Given the description of an element on the screen output the (x, y) to click on. 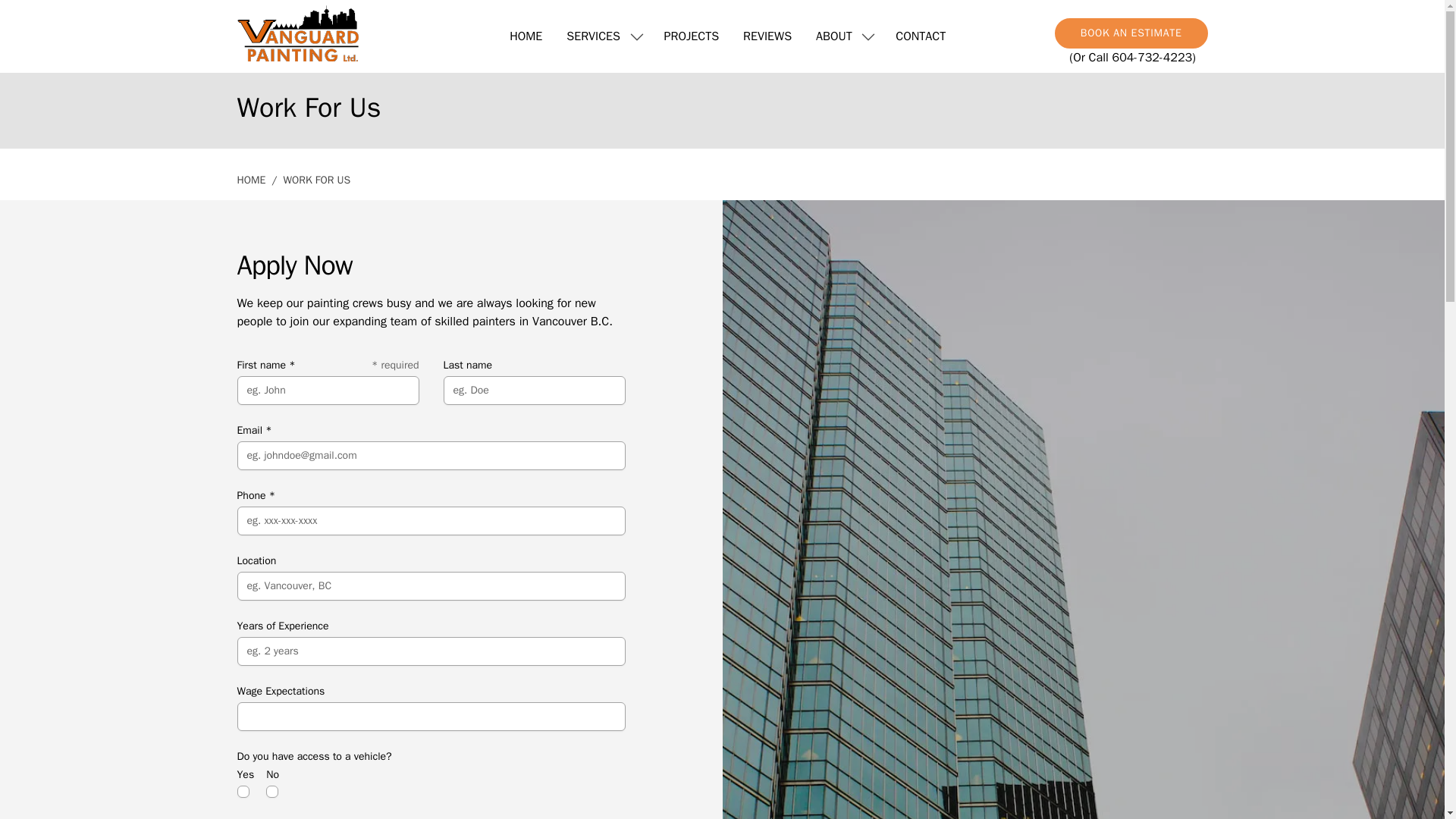
PROJECTS (692, 36)
CONTACT (920, 36)
REVIEWS (766, 36)
SERVICES (592, 36)
HOME (525, 36)
HOME (249, 179)
ABOUT (833, 36)
Yes (241, 791)
BOOK AN ESTIMATE (1122, 25)
BOOK AN ESTIMATE (1131, 33)
No (272, 791)
